Given the description of an element on the screen output the (x, y) to click on. 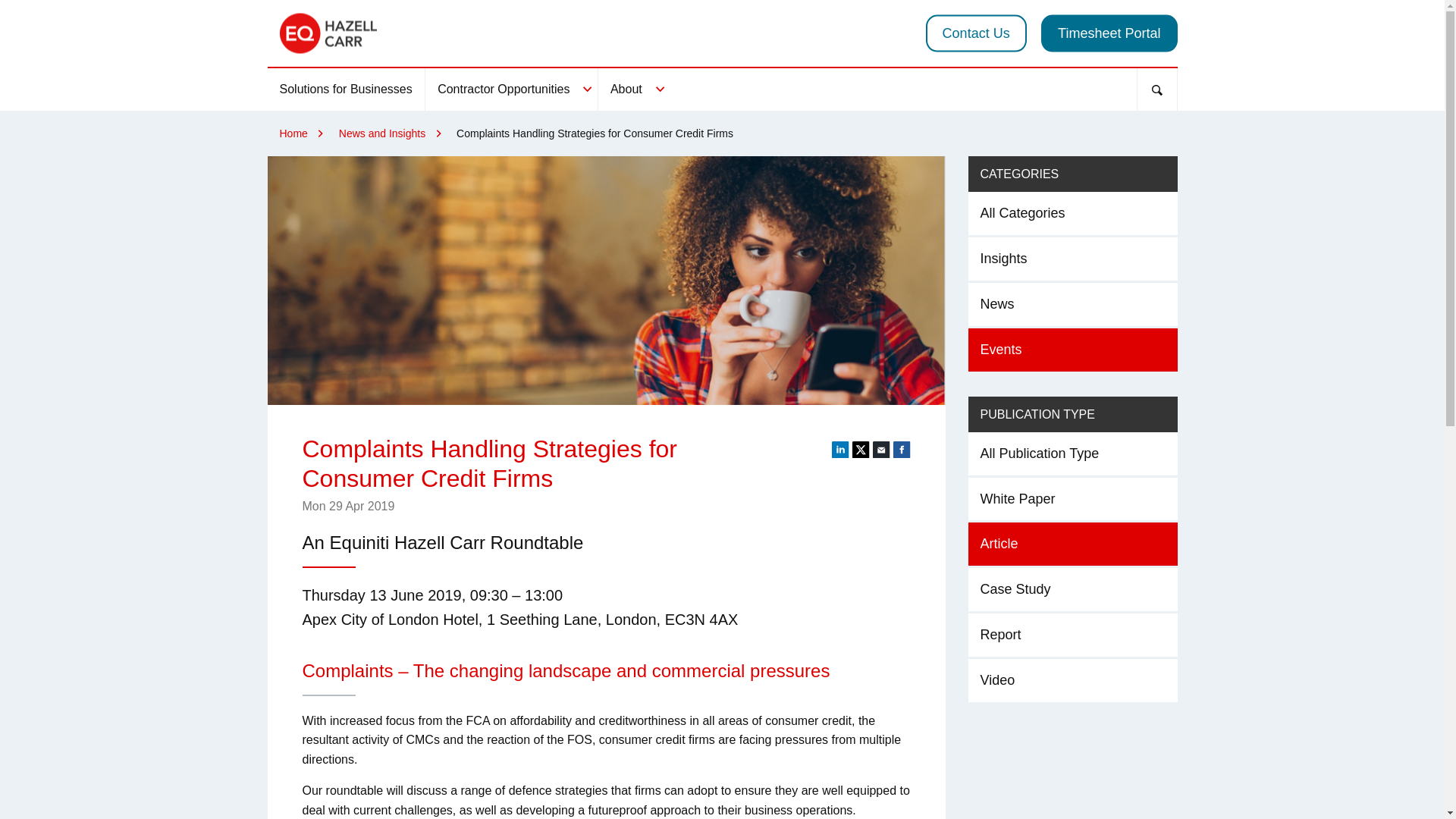
All Categories (1072, 213)
News (1072, 303)
Insights (1072, 258)
Contact Us (976, 33)
Solutions for Businesses (344, 88)
Events (1072, 349)
Timesheet Portal (1108, 33)
About (633, 88)
Home (294, 133)
Contractor Opportunities (510, 88)
